Given the description of an element on the screen output the (x, y) to click on. 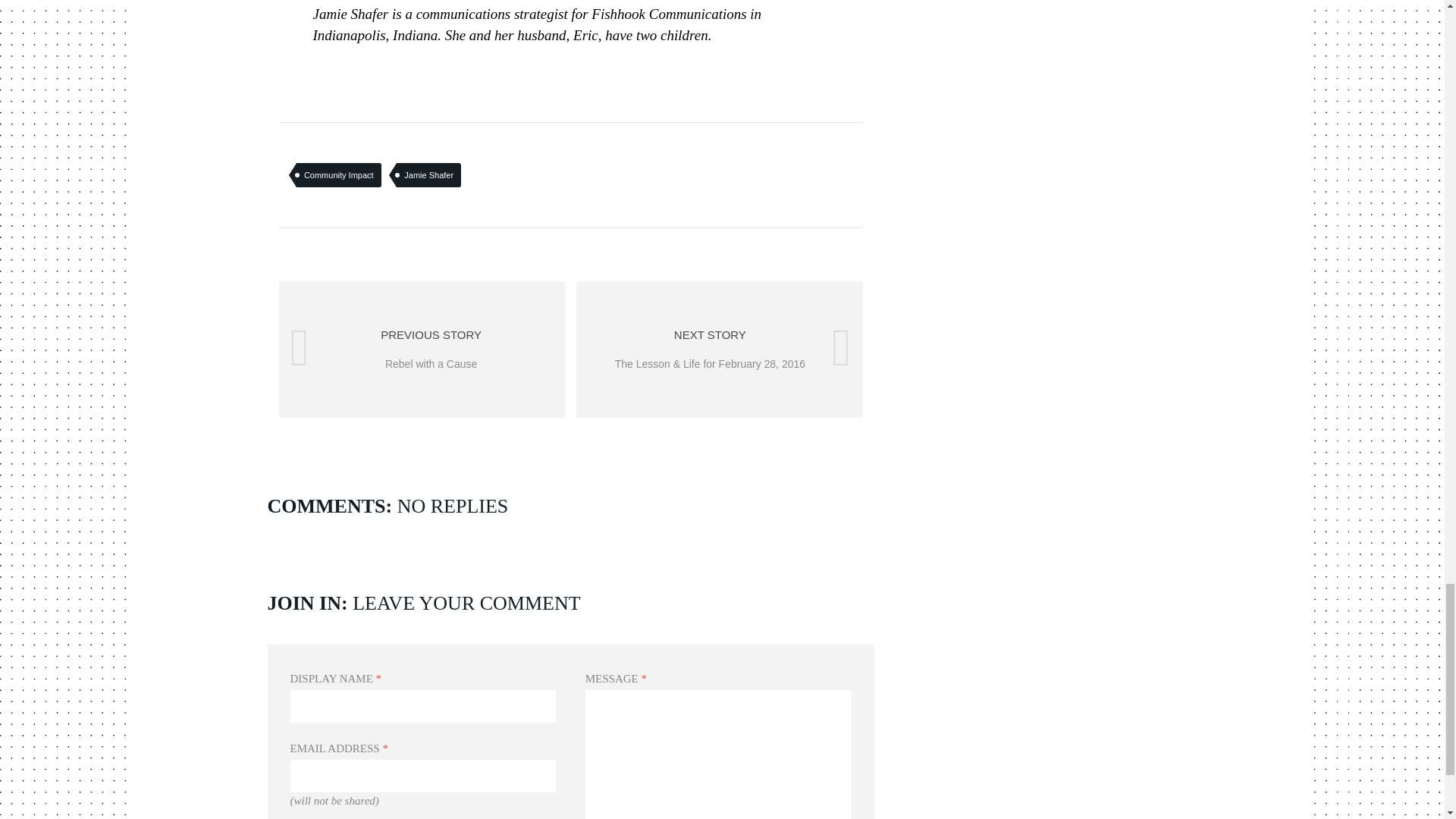
Community Impact (339, 174)
Jamie Shafer (421, 349)
